Given the description of an element on the screen output the (x, y) to click on. 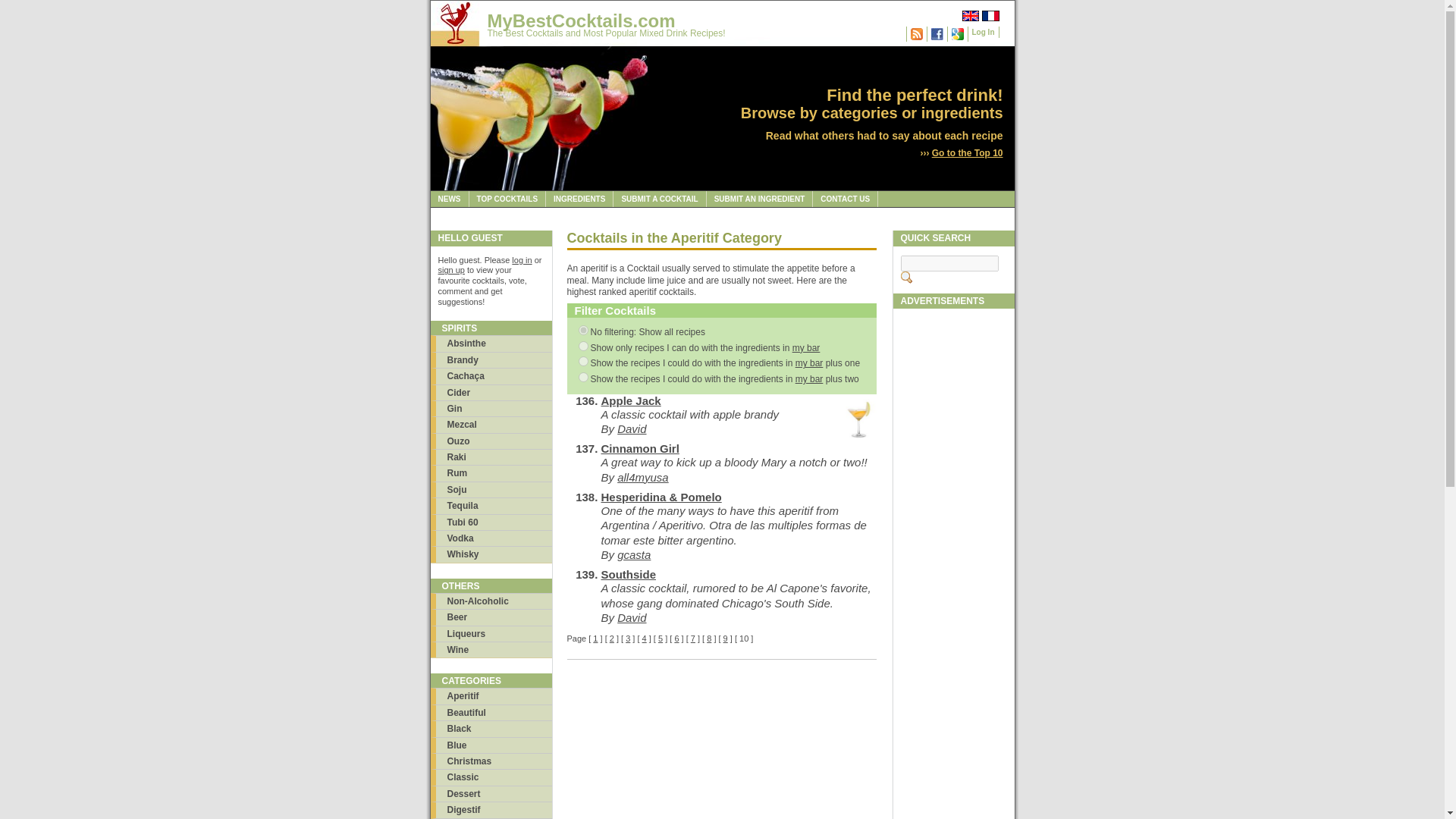
CONTACT US (844, 198)
Brandy (490, 359)
Rum (490, 472)
Raki (490, 456)
Ouzo (490, 440)
Advertisement (953, 543)
SUBMIT A COCKTAIL (659, 198)
Missing2 (583, 377)
Soju (490, 489)
NEWS (449, 198)
The Best Cocktails and Most Popular Mixed Drink Recipes! (605, 32)
Aperitif (490, 695)
Advertisement (953, 795)
Non-Alcoholic (490, 600)
Blue (490, 744)
